Given the description of an element on the screen output the (x, y) to click on. 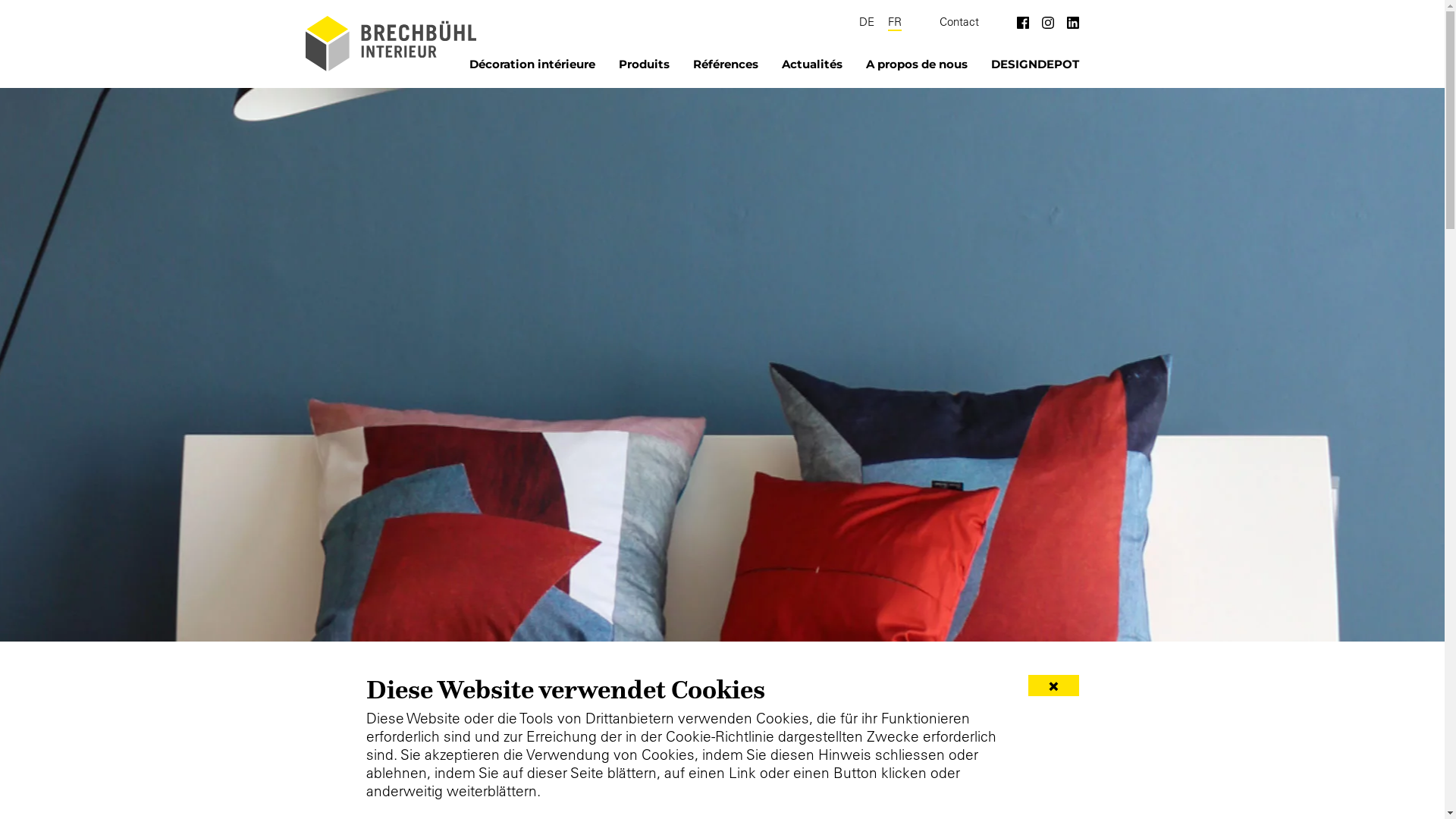
A propos de nous Element type: text (916, 64)
Skip to content Element type: text (0, 15)
Produits Element type: text (643, 64)
Contact Element type: text (958, 23)
DESIGNDEPOT Element type: text (1034, 64)
DE Element type: text (865, 23)
FR Element type: text (893, 23)
Retour au blog Element type: text (302, 681)
